Given the description of an element on the screen output the (x, y) to click on. 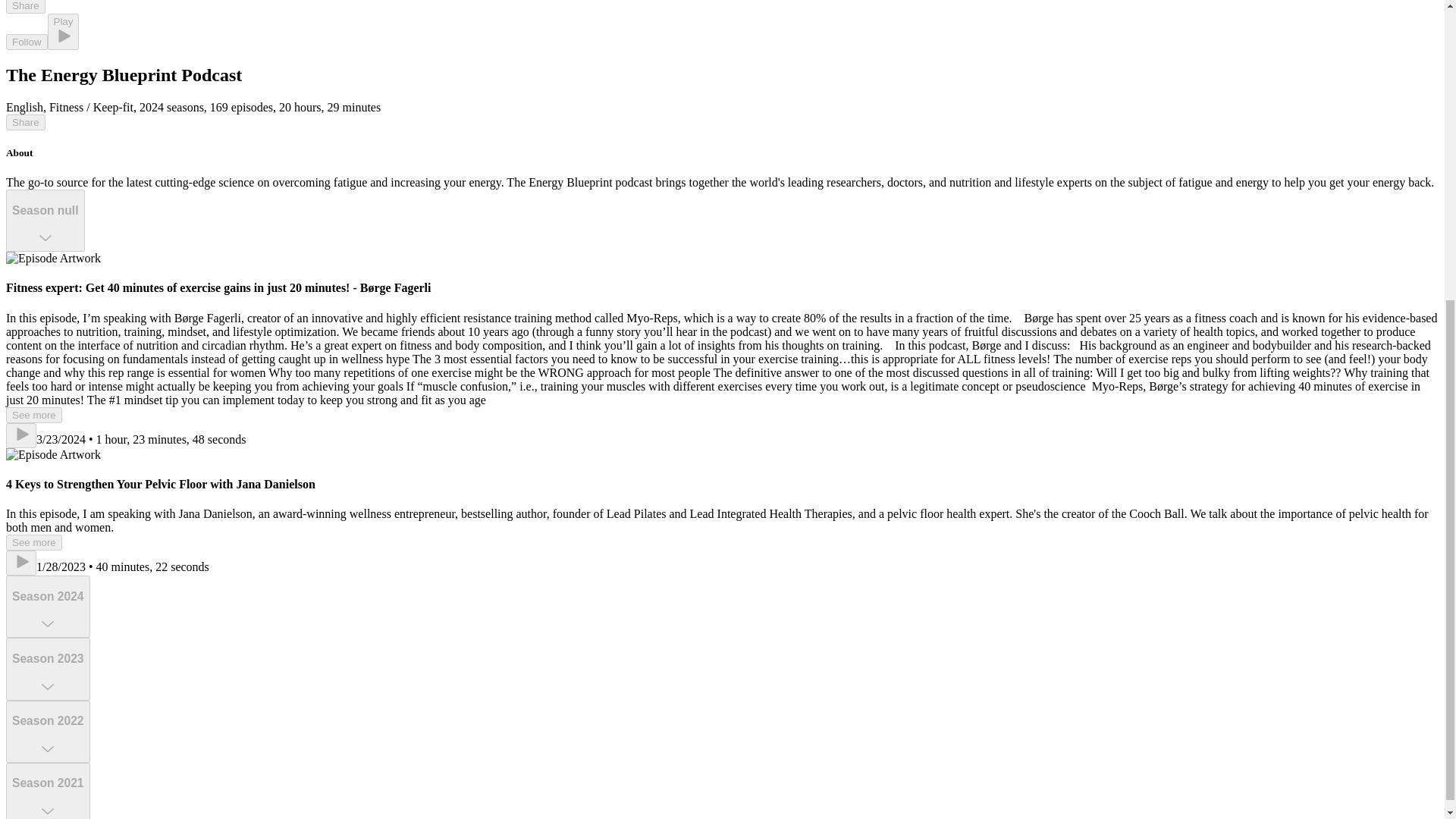
Season 2023 (47, 669)
See more (33, 542)
Season 2024 (47, 606)
Season null (44, 220)
Play (64, 31)
Share (25, 122)
See more (33, 415)
Share (25, 6)
Season 2022 (47, 731)
Follow (26, 41)
